Given the description of an element on the screen output the (x, y) to click on. 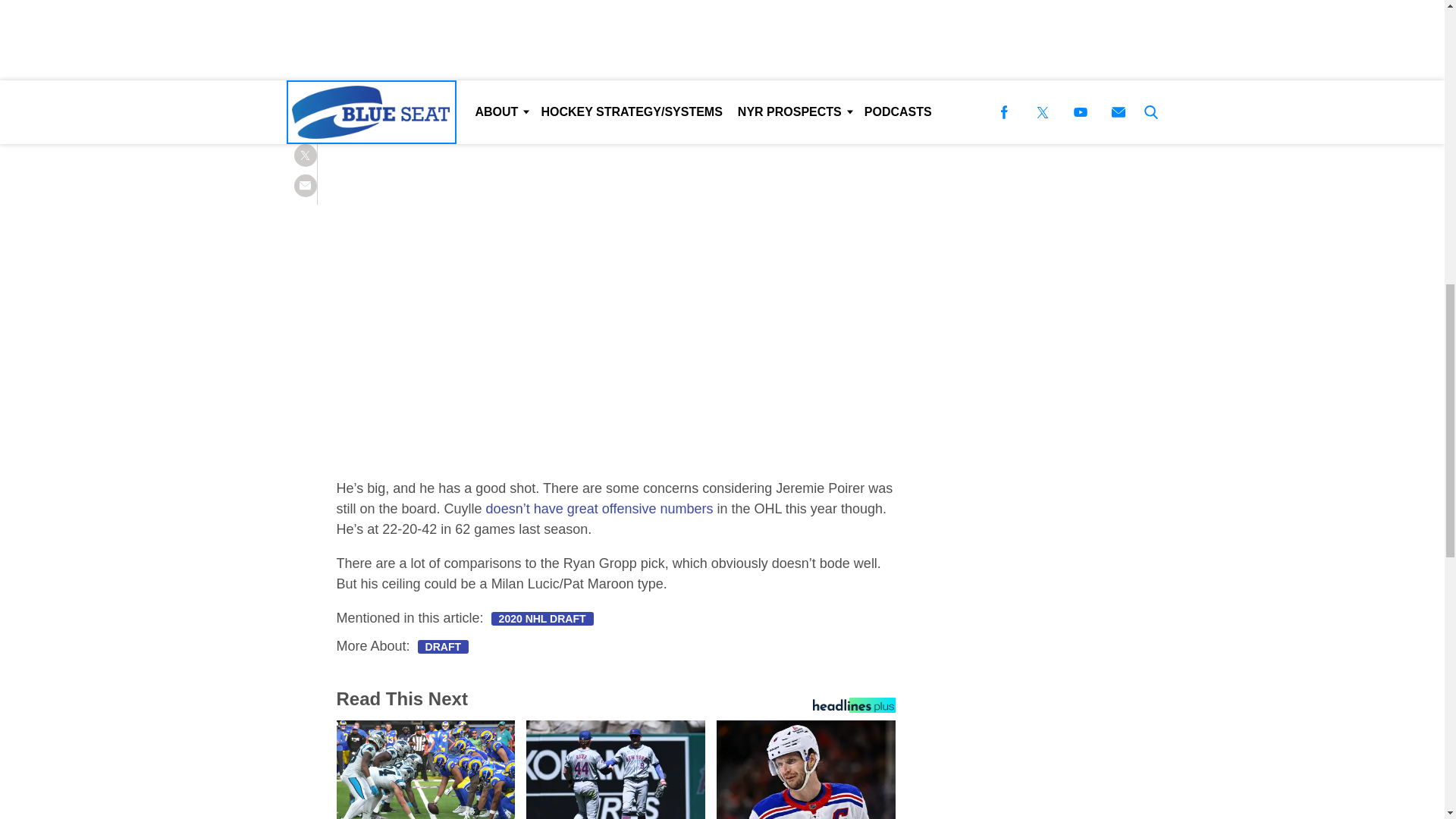
DRAFT (442, 646)
2020 NHL DRAFT (543, 618)
